Given the description of an element on the screen output the (x, y) to click on. 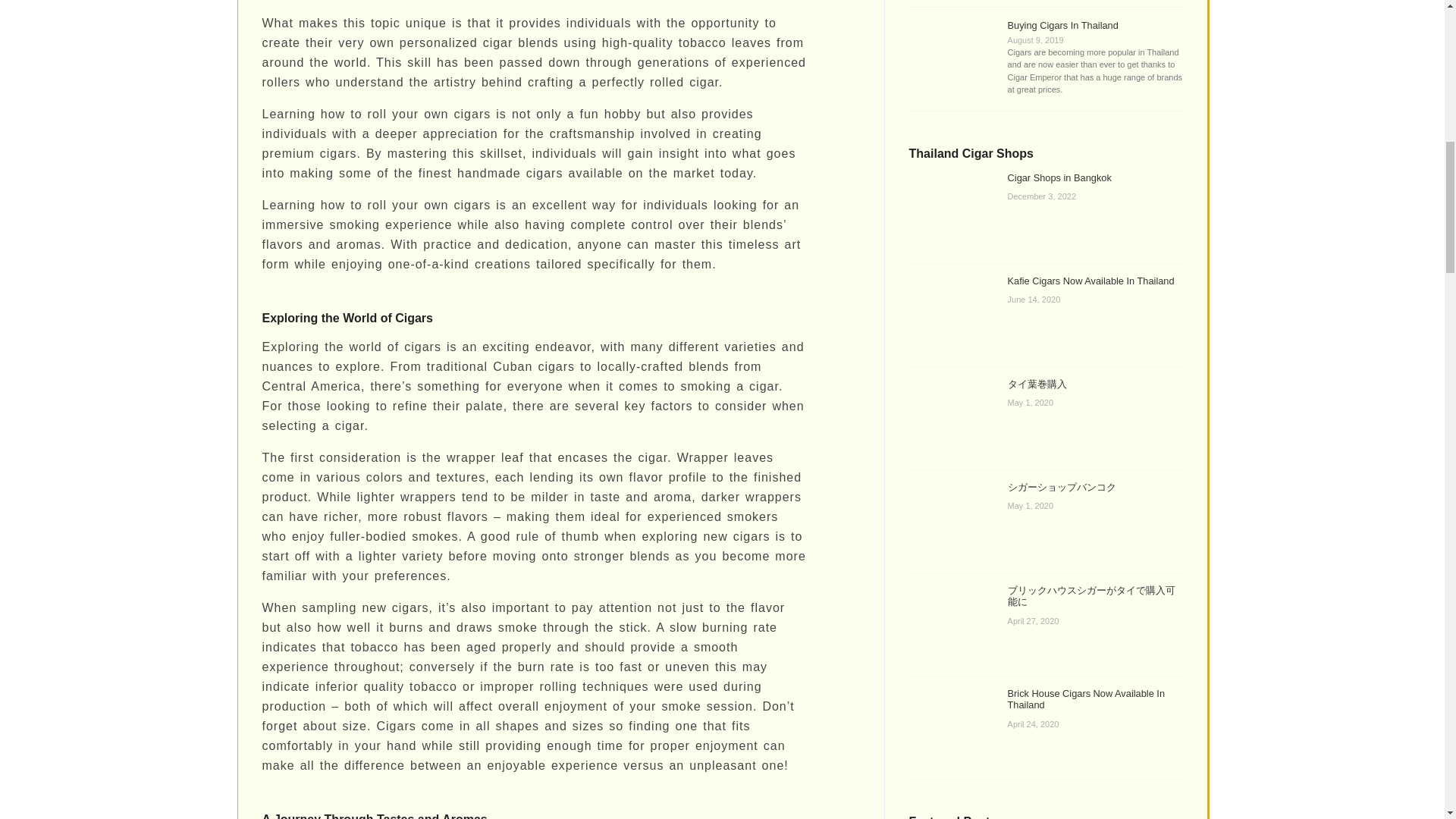
Buying Cigars In Thailand (1062, 25)
Cigar Shops in Bangkok (1059, 177)
Kafie Cigars Now Available In Thailand (1090, 280)
